Given the description of an element on the screen output the (x, y) to click on. 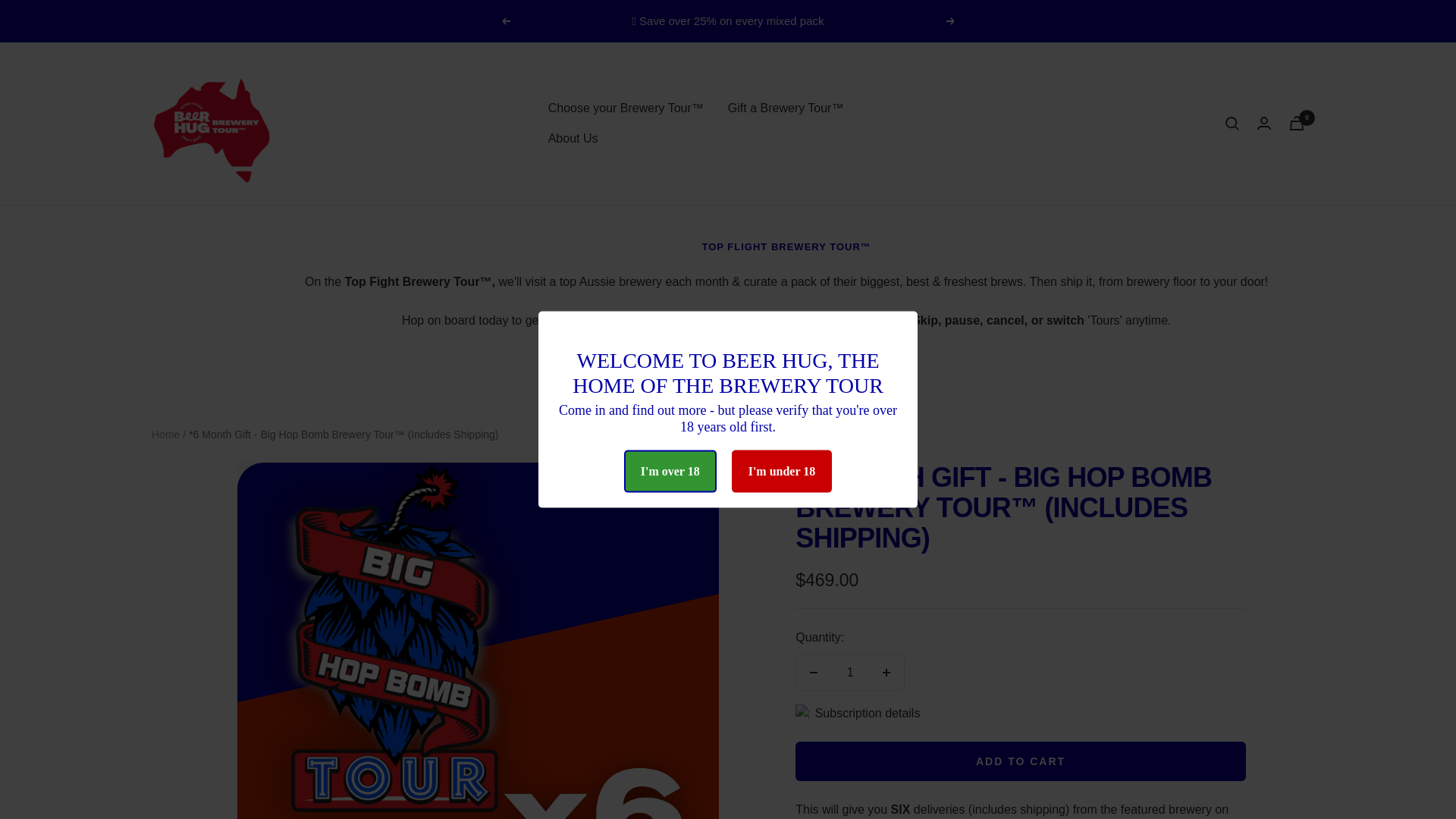
Home (165, 434)
About Us (573, 138)
ADD TO CART (1020, 761)
Previous (504, 21)
HERE (863, 359)
Decrease quantity (813, 672)
0 (1296, 123)
Brewery Tour Subscriptions (863, 359)
1 (850, 672)
Increase quantity (886, 672)
Next (950, 21)
Beer Hug Australia (212, 123)
